Given the description of an element on the screen output the (x, y) to click on. 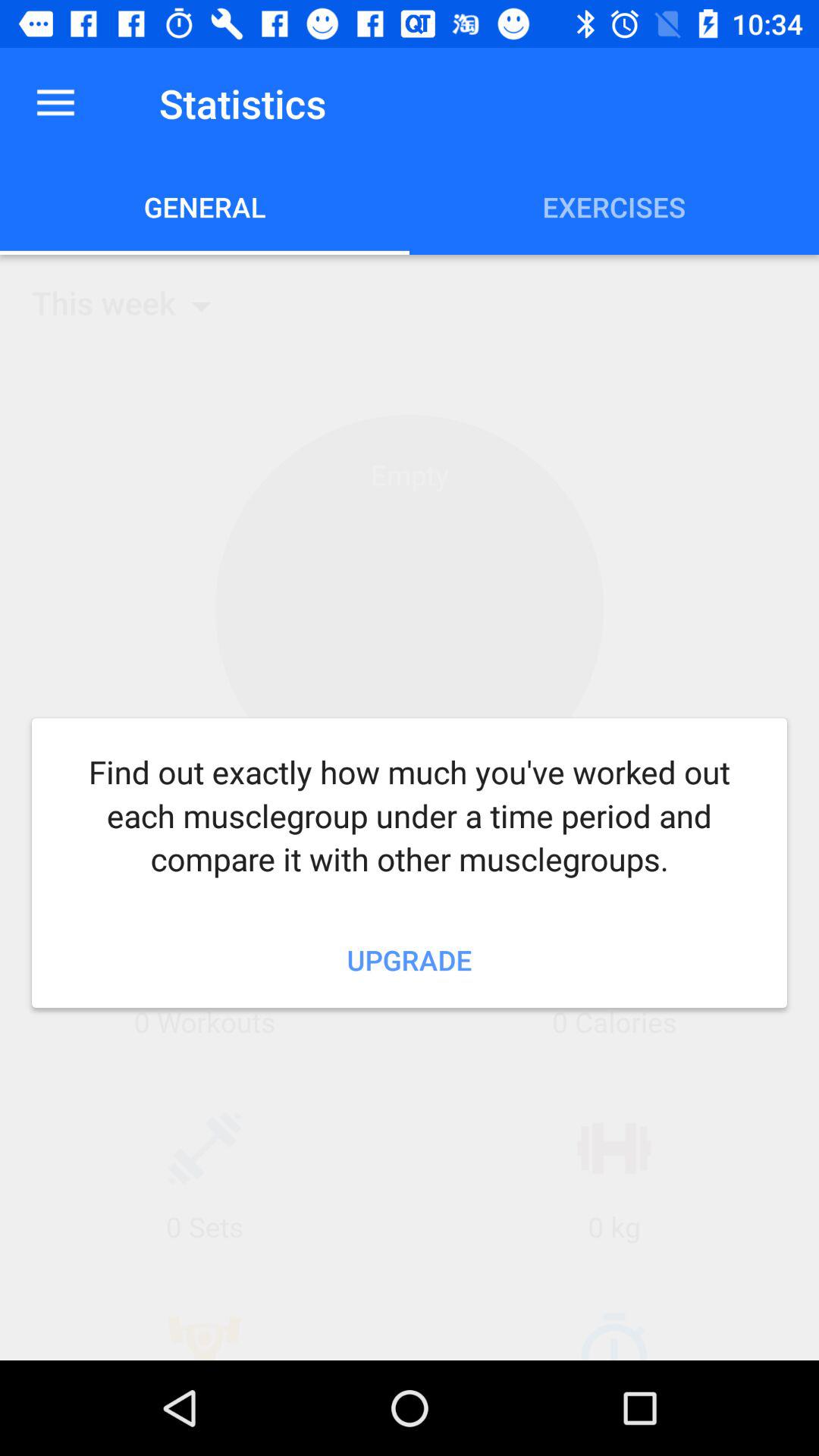
click the upgrade item (409, 959)
